Given the description of an element on the screen output the (x, y) to click on. 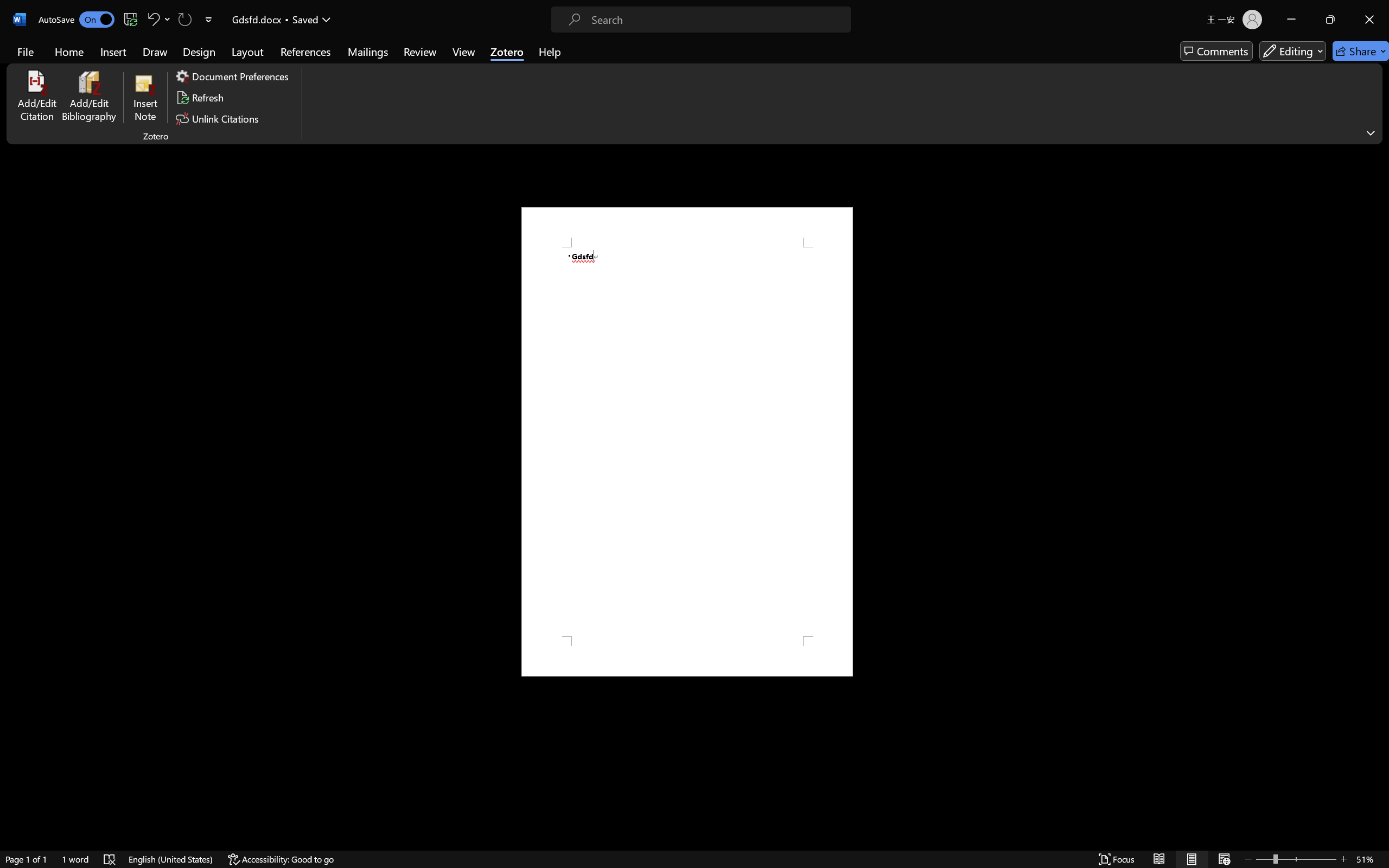
Page 1 content (686, 441)
